Given the description of an element on the screen output the (x, y) to click on. 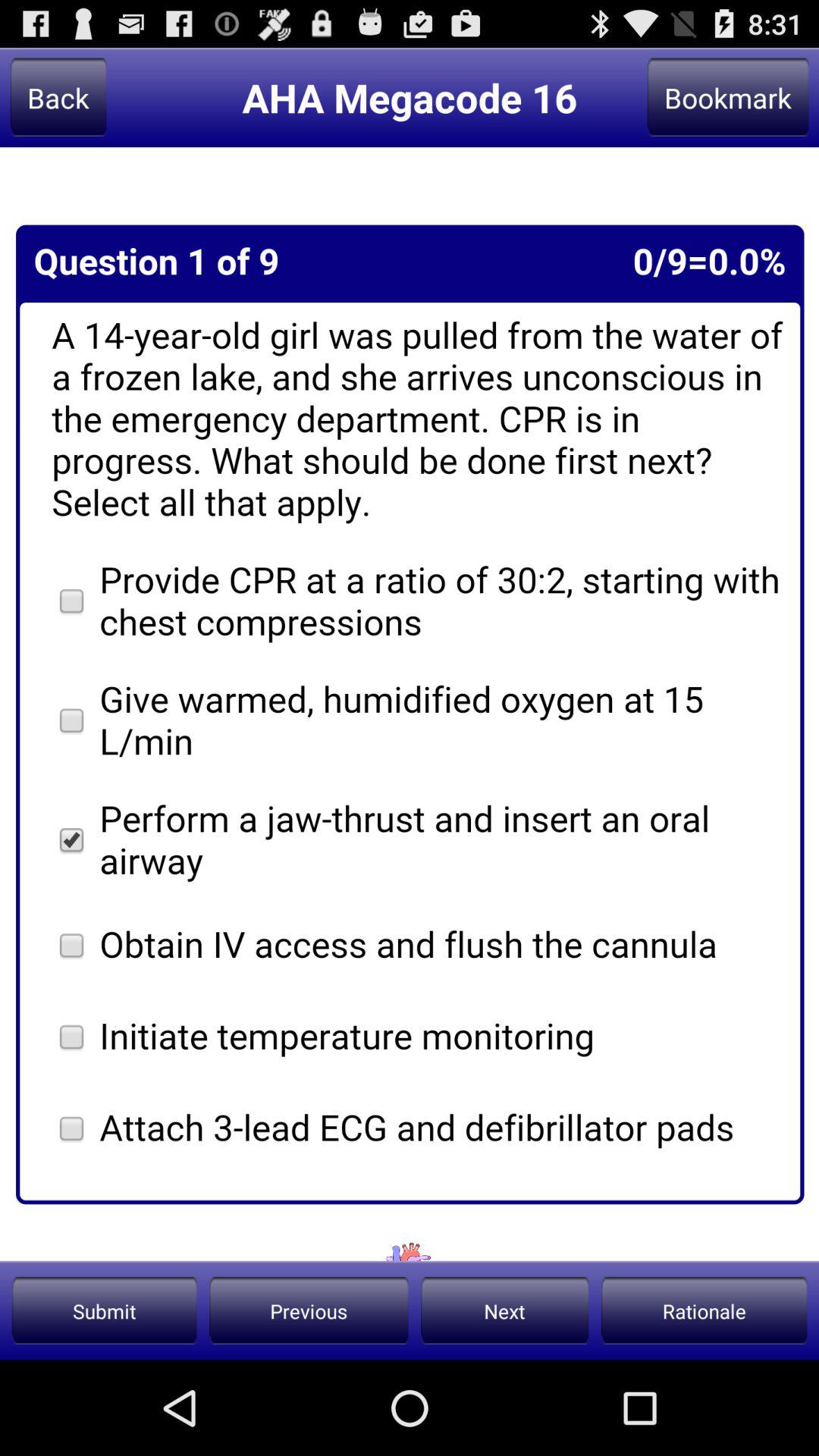
description (409, 703)
